Given the description of an element on the screen output the (x, y) to click on. 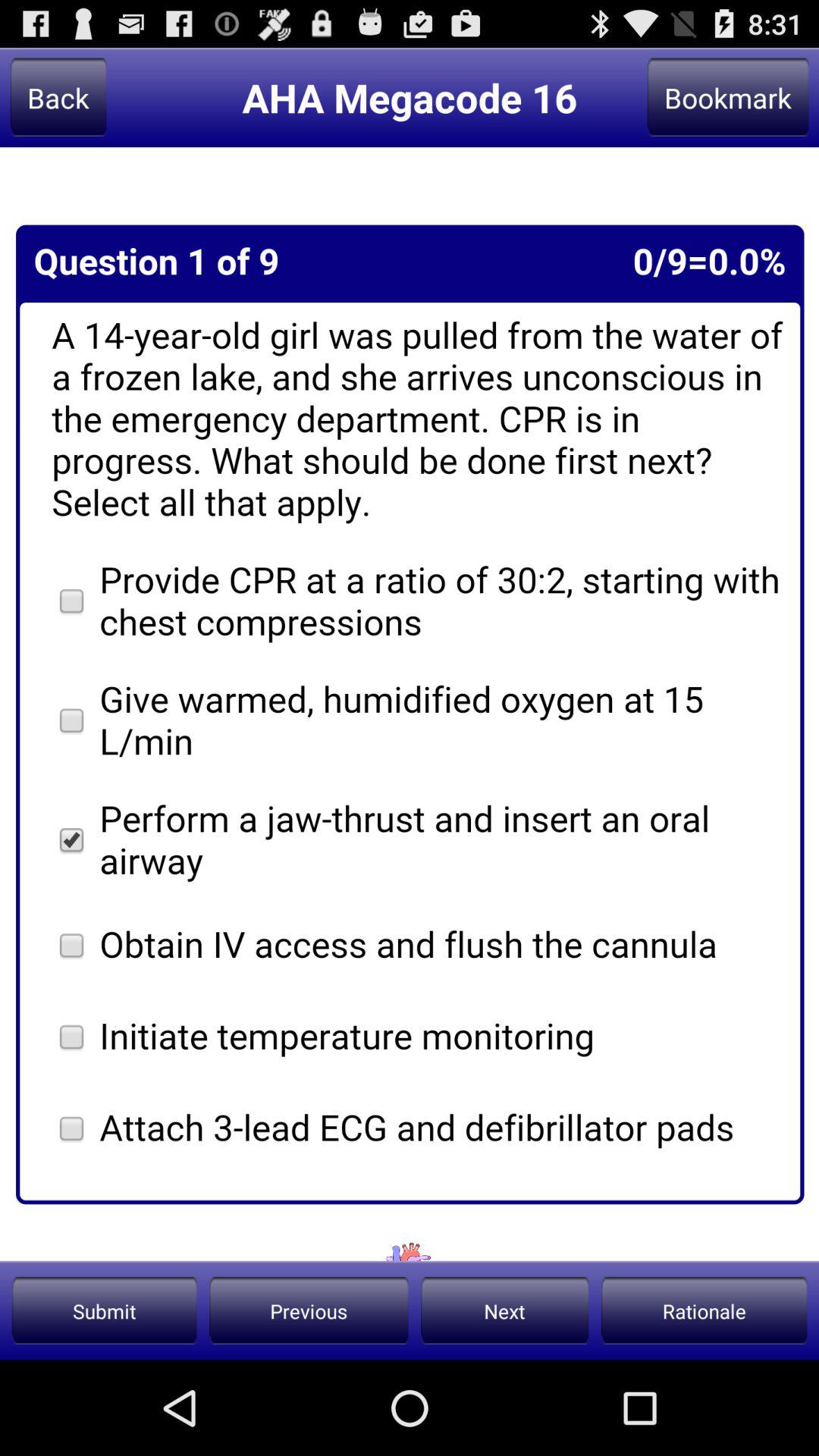
description (409, 703)
